Given the description of an element on the screen output the (x, y) to click on. 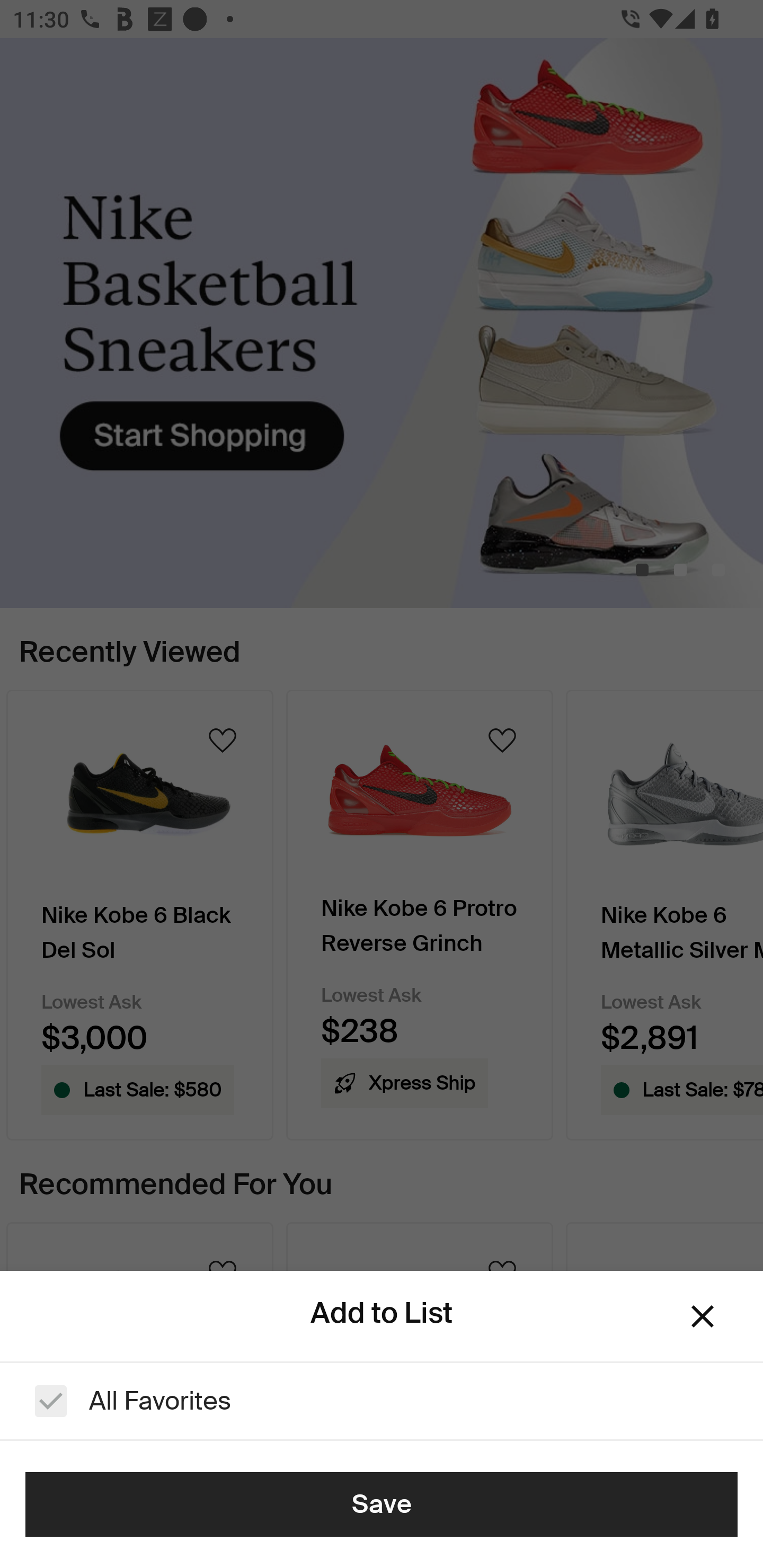
Dismiss (702, 1315)
All Favorites (381, 1400)
Save (381, 1504)
